Given the description of an element on the screen output the (x, y) to click on. 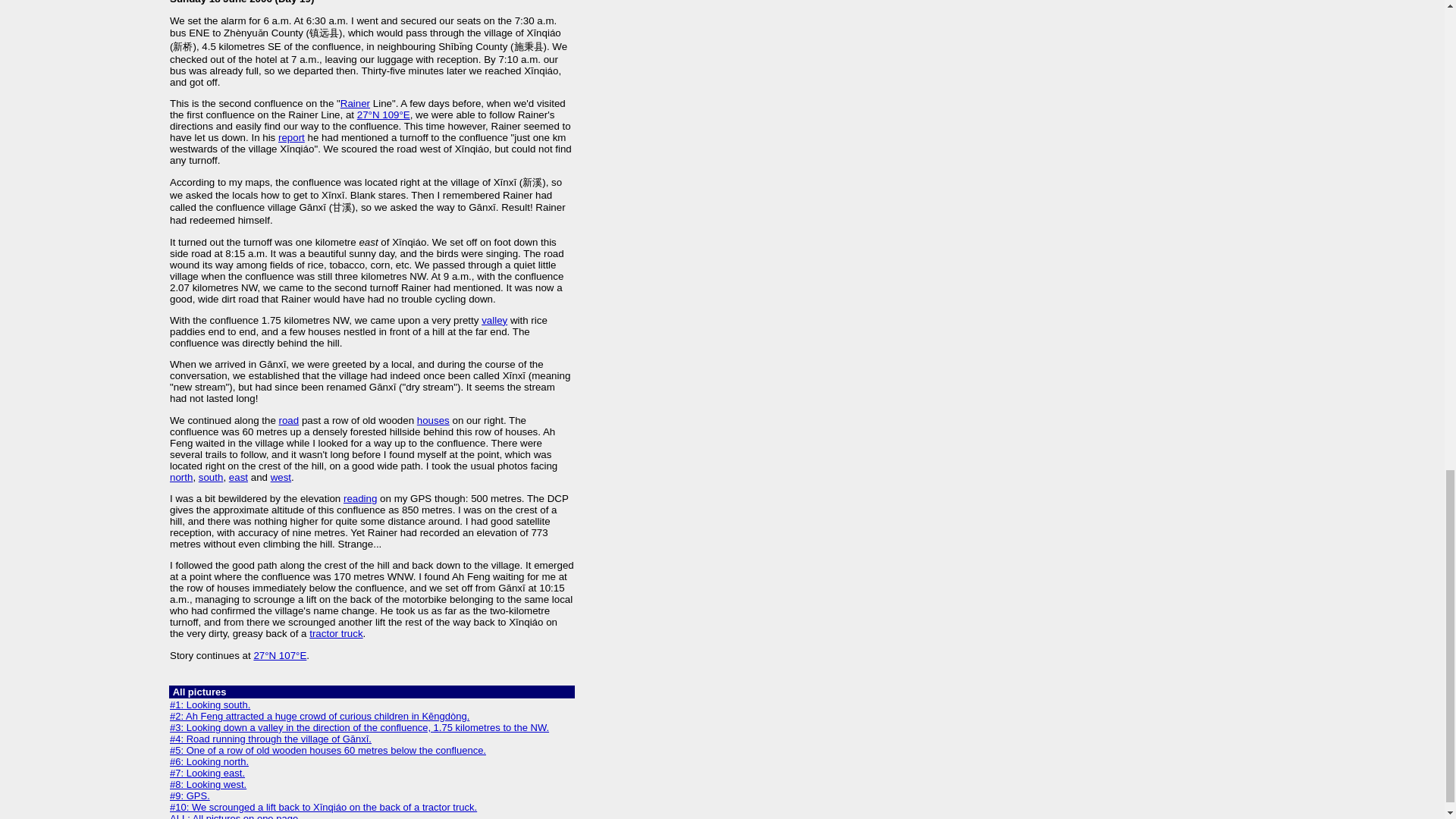
Rainer (354, 102)
